Given the description of an element on the screen output the (x, y) to click on. 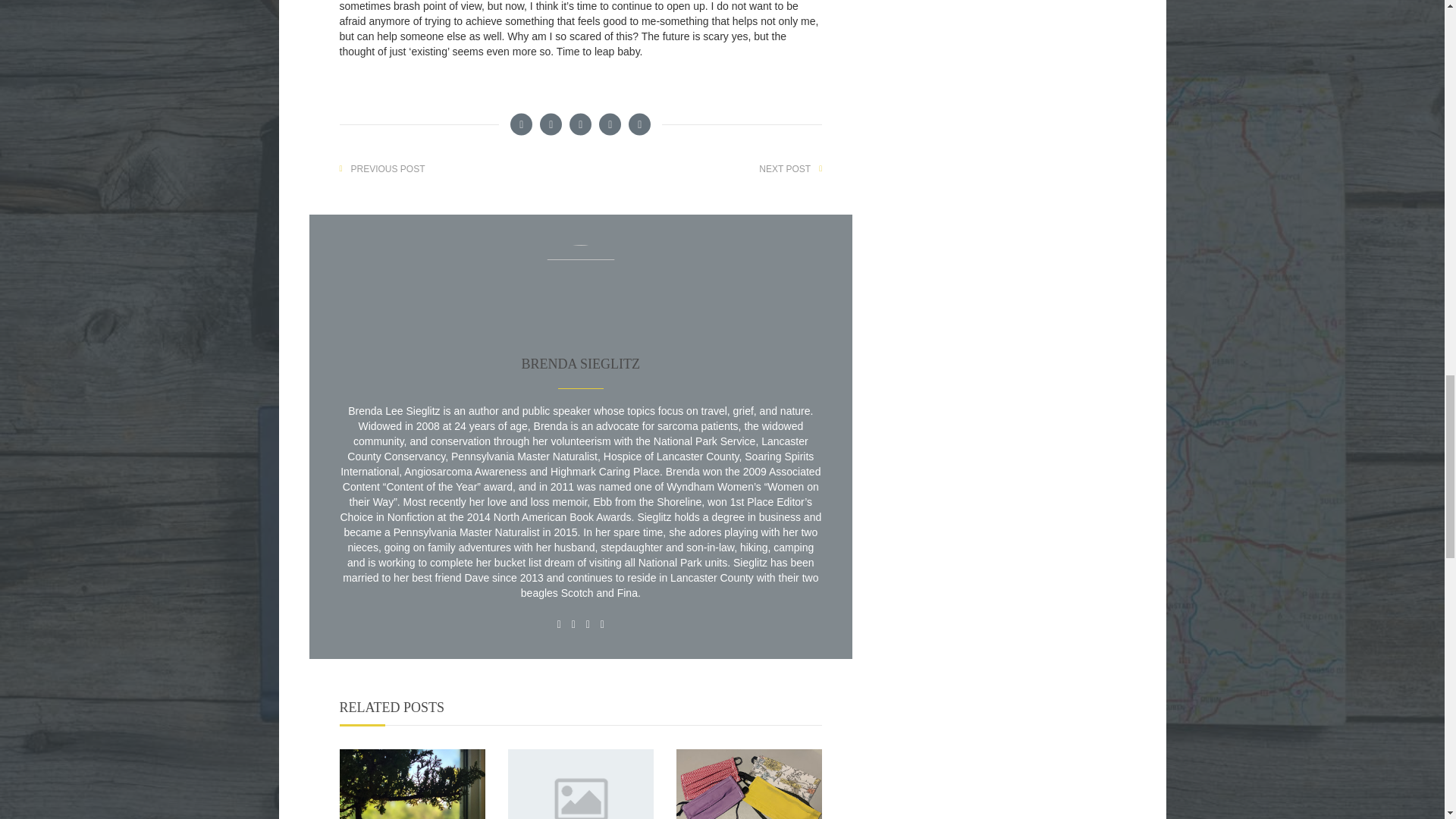
PREVIOUS POST (387, 168)
NEXT POST (785, 168)
